Given the description of an element on the screen output the (x, y) to click on. 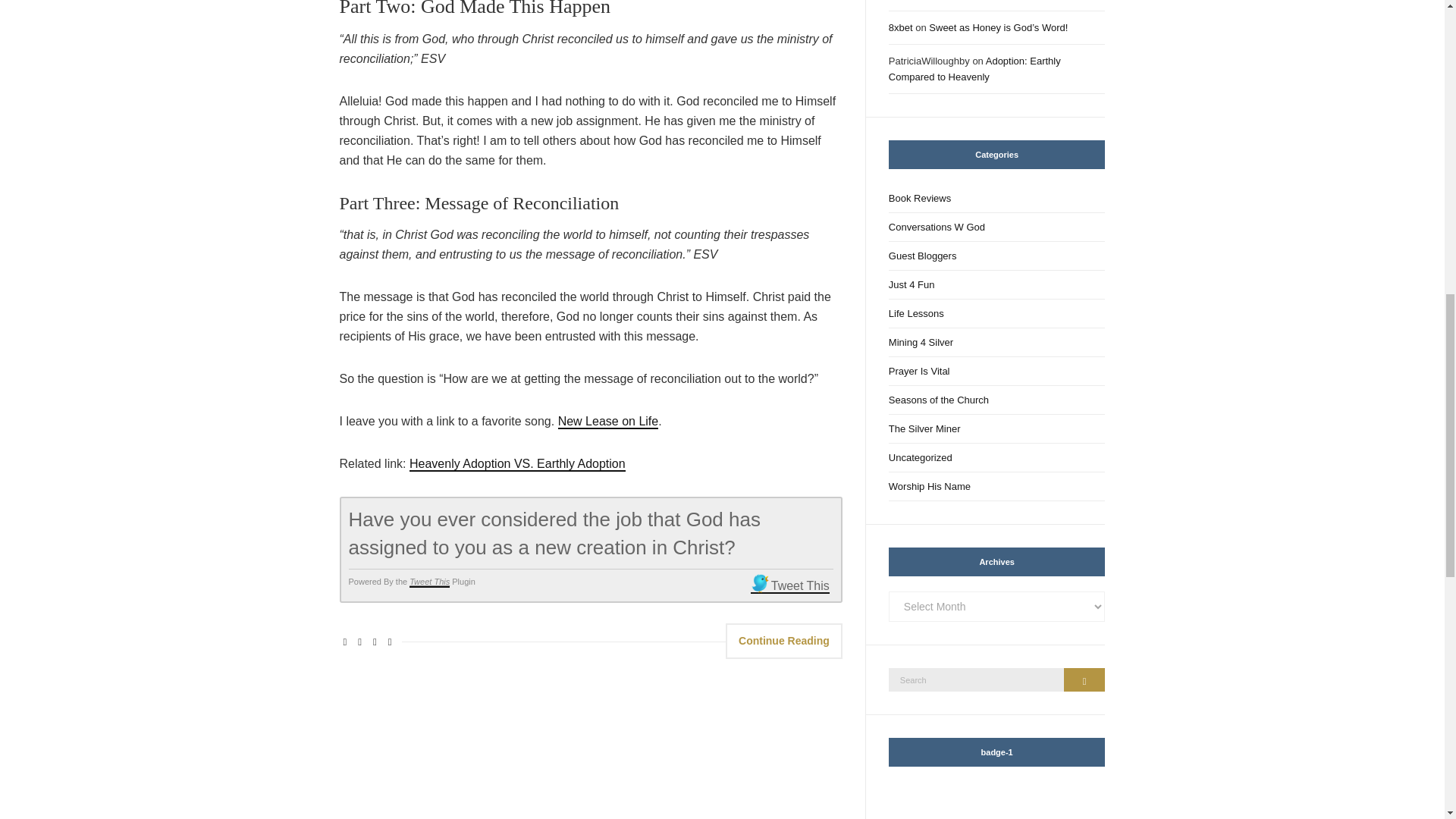
Heavenly Adoption VS. Earthly Adoption (517, 464)
Tweet This (790, 586)
8xbet (900, 27)
New Lease on Life (608, 421)
Tweet This (429, 582)
Continue Reading (784, 641)
Adoption: Earthly Compared to Heavenly (974, 68)
